Given the description of an element on the screen output the (x, y) to click on. 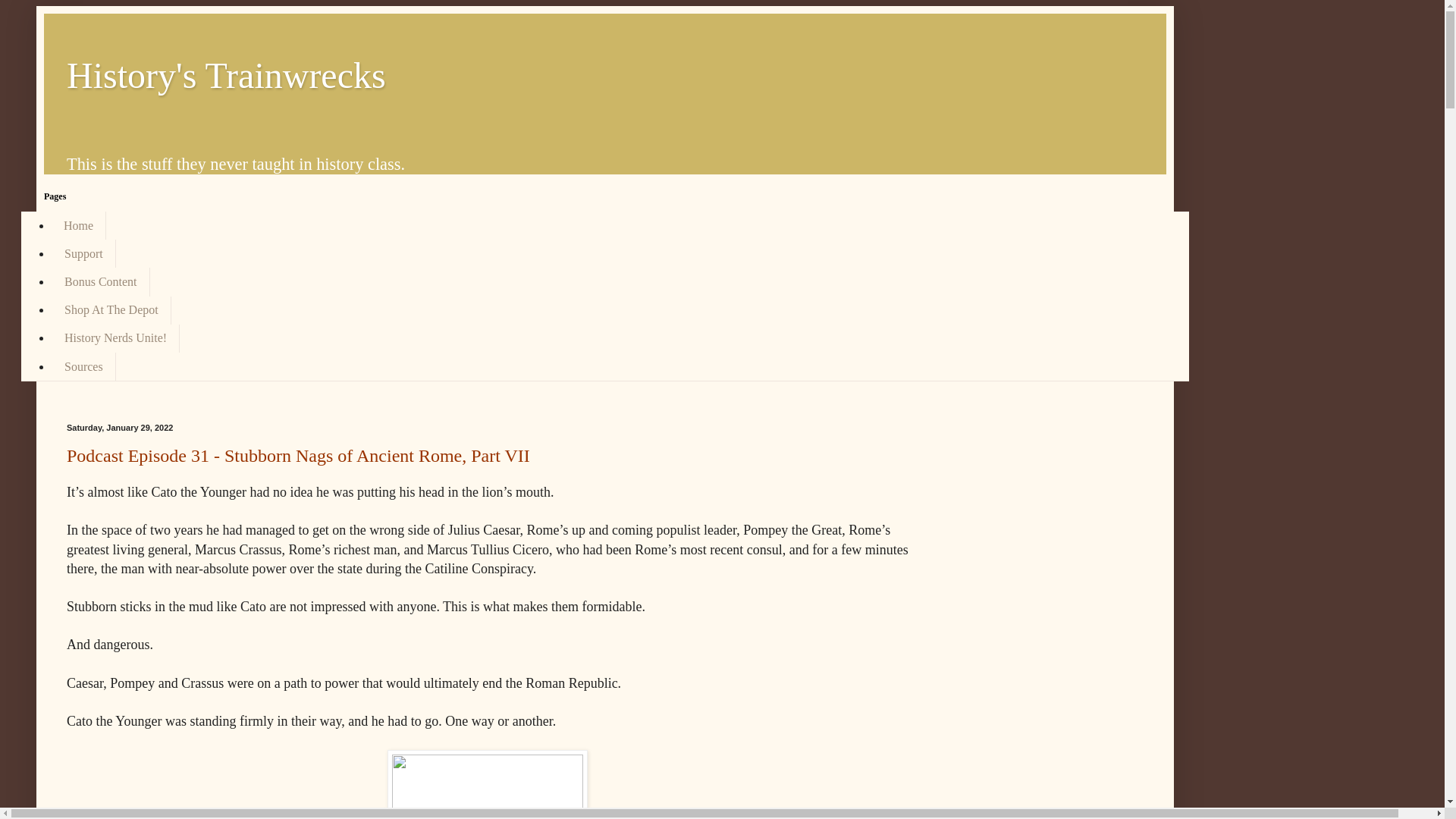
Support (83, 253)
Home (78, 225)
Sources (83, 366)
History Nerds Unite! (114, 338)
Podcast Episode 31 - Stubborn Nags of Ancient Rome, Part VII (297, 455)
Bonus Content (99, 281)
History's Trainwrecks (225, 75)
Shop At The Depot (110, 310)
